Given the description of an element on the screen output the (x, y) to click on. 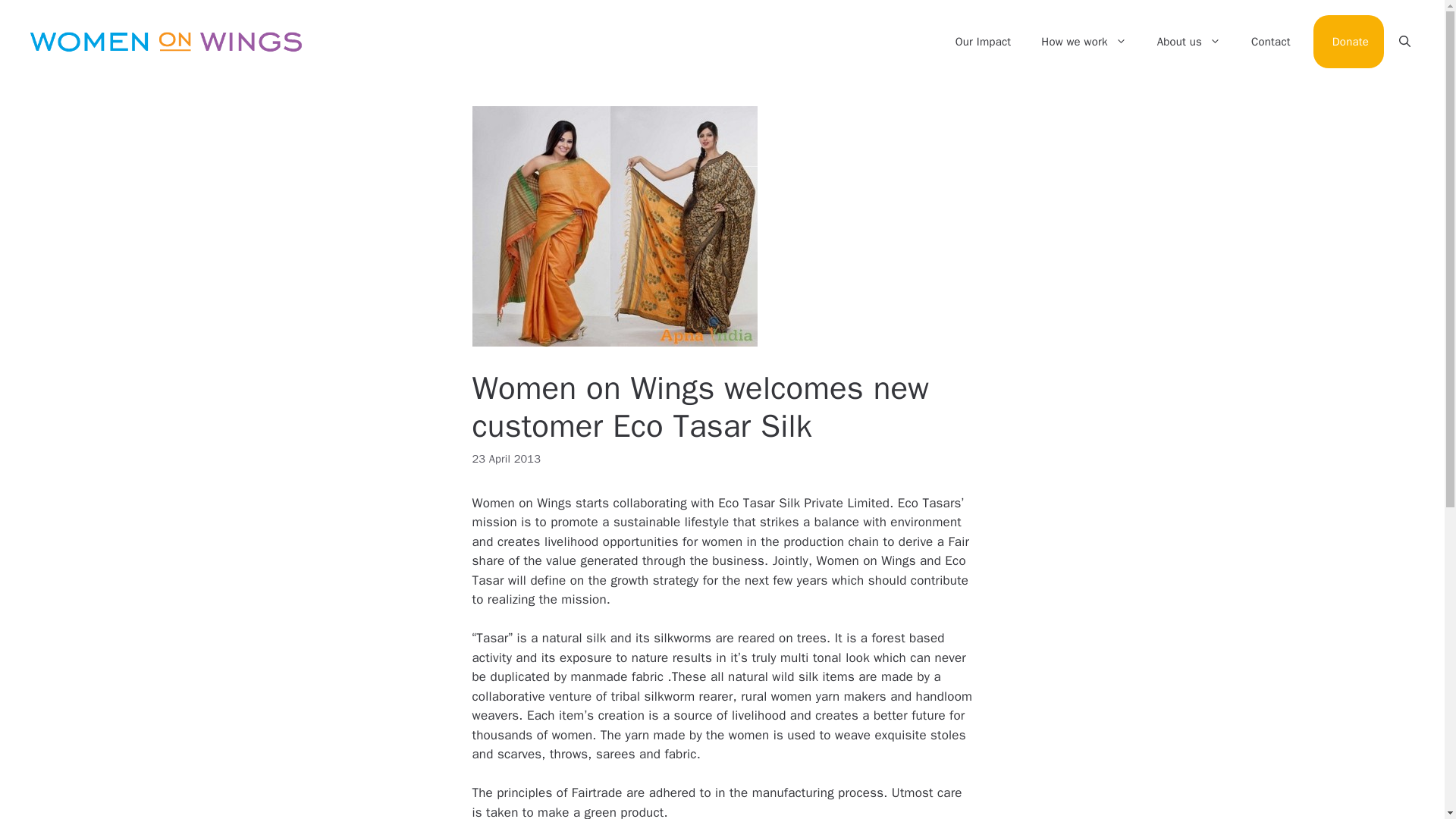
Donate (1350, 41)
About us (1188, 41)
Contact (1271, 41)
Our Impact (983, 41)
How we work (1083, 41)
